Given the description of an element on the screen output the (x, y) to click on. 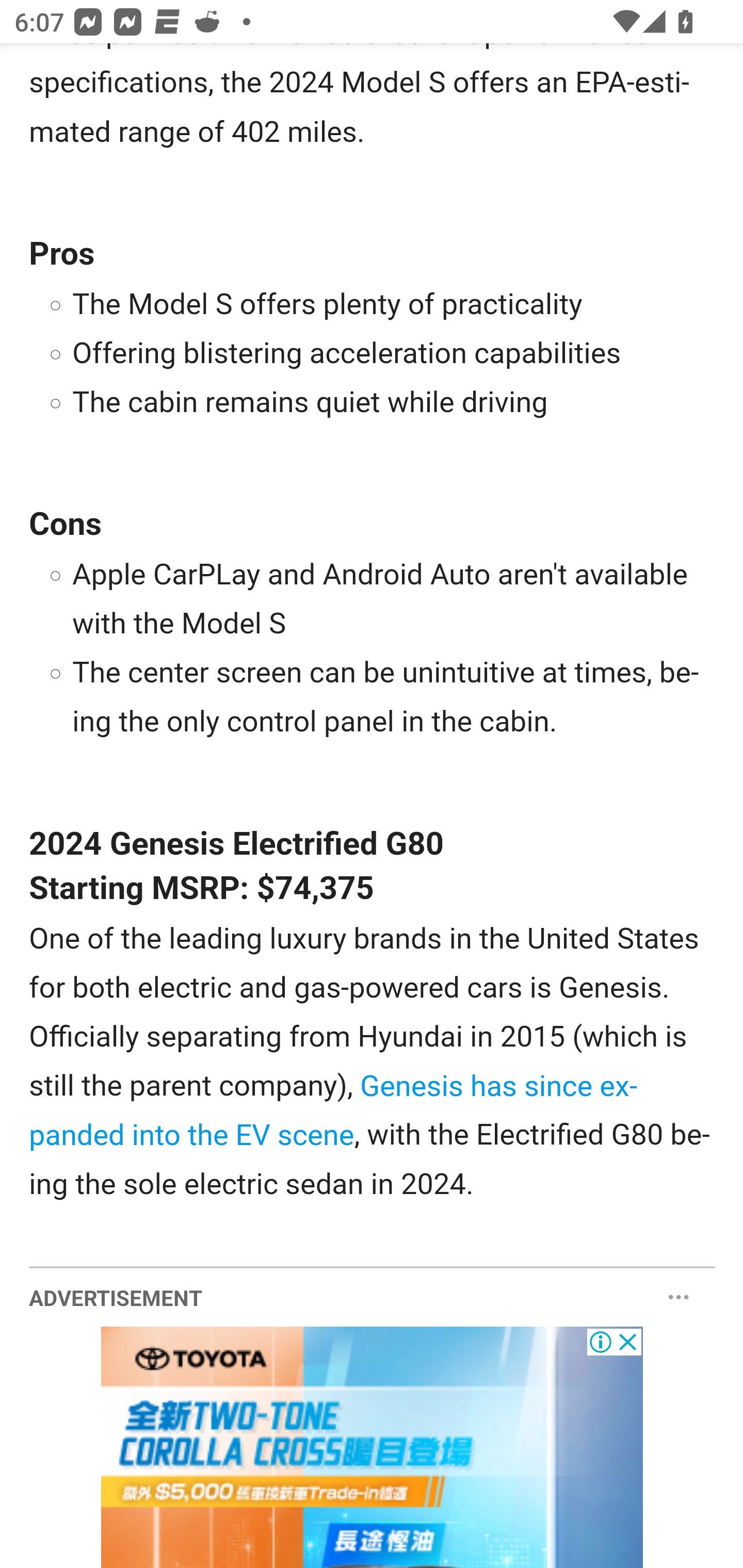
Genesis has since expanded into the EV scene (333, 1110)
